Given the description of an element on the screen output the (x, y) to click on. 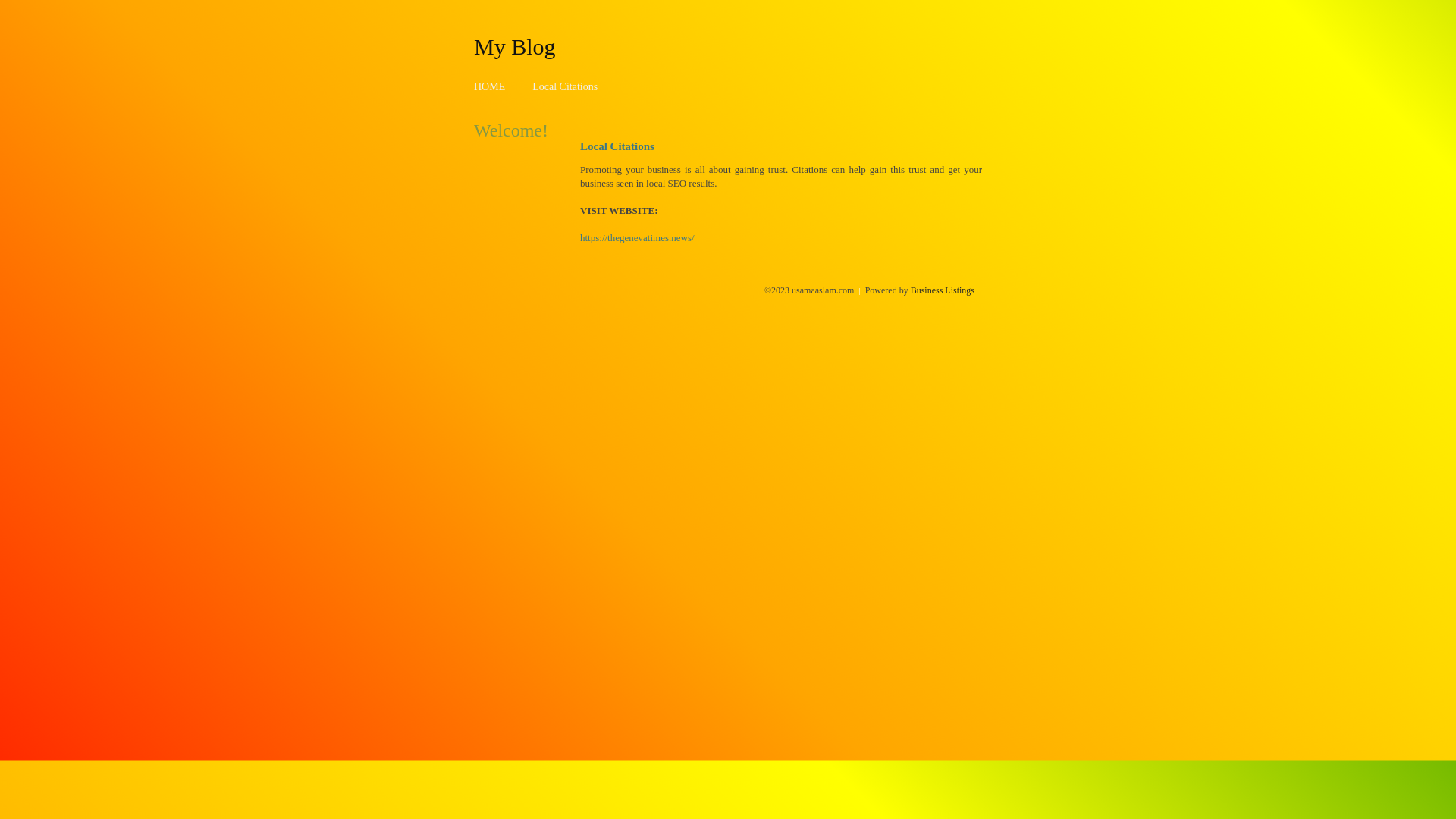
Business Listings Element type: text (942, 290)
https://thegenevatimes.news/ Element type: text (637, 237)
My Blog Element type: text (514, 46)
HOME Element type: text (489, 86)
Local Citations Element type: text (564, 86)
